Given the description of an element on the screen output the (x, y) to click on. 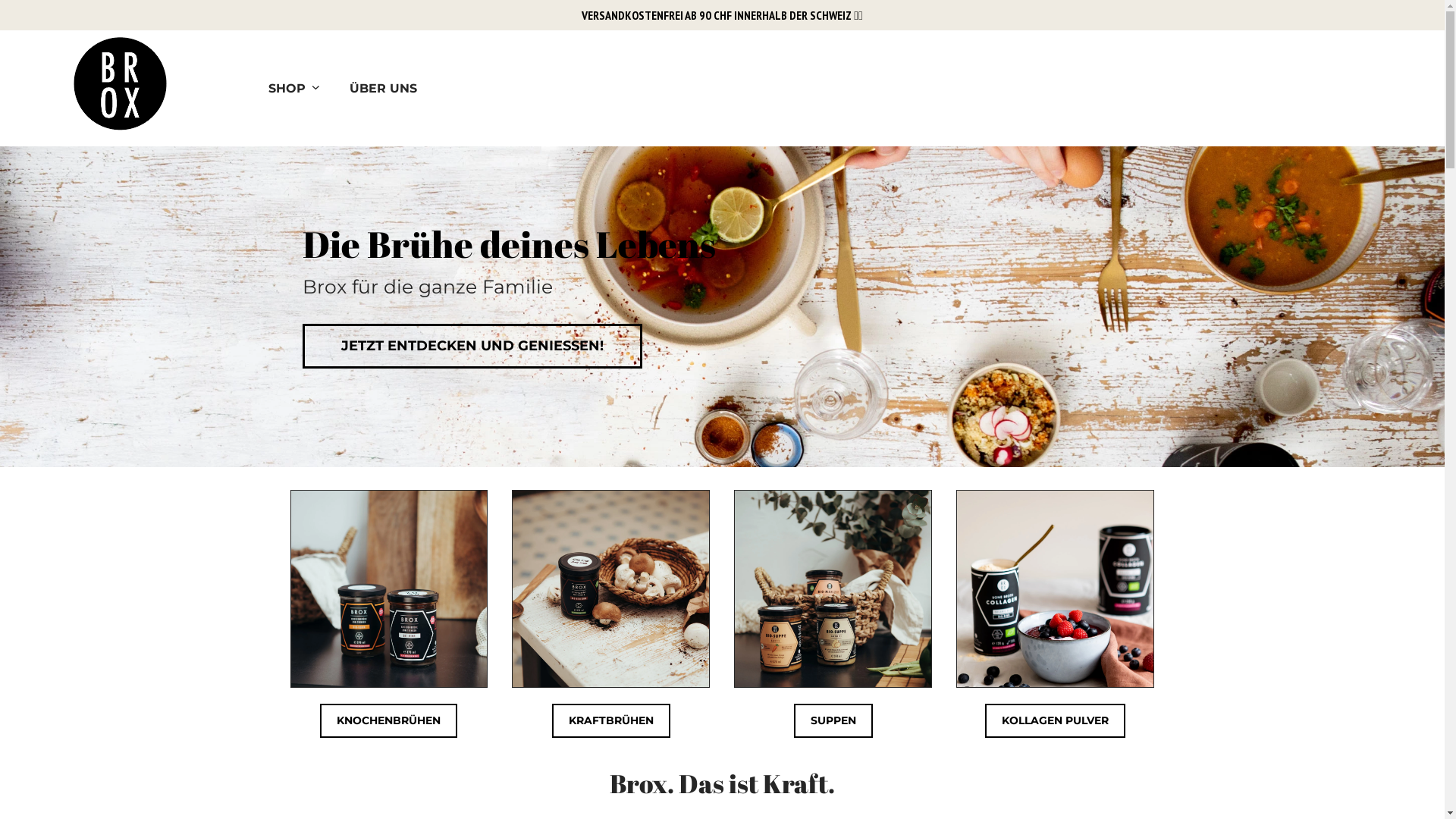
JETZT ENTDECKEN UND GENIESSEN! Element type: text (471, 346)
SUPPEN Element type: text (832, 720)
KOLLAGEN PULVER Element type: text (1055, 720)
SHOP Element type: text (293, 88)
